Given the description of an element on the screen output the (x, y) to click on. 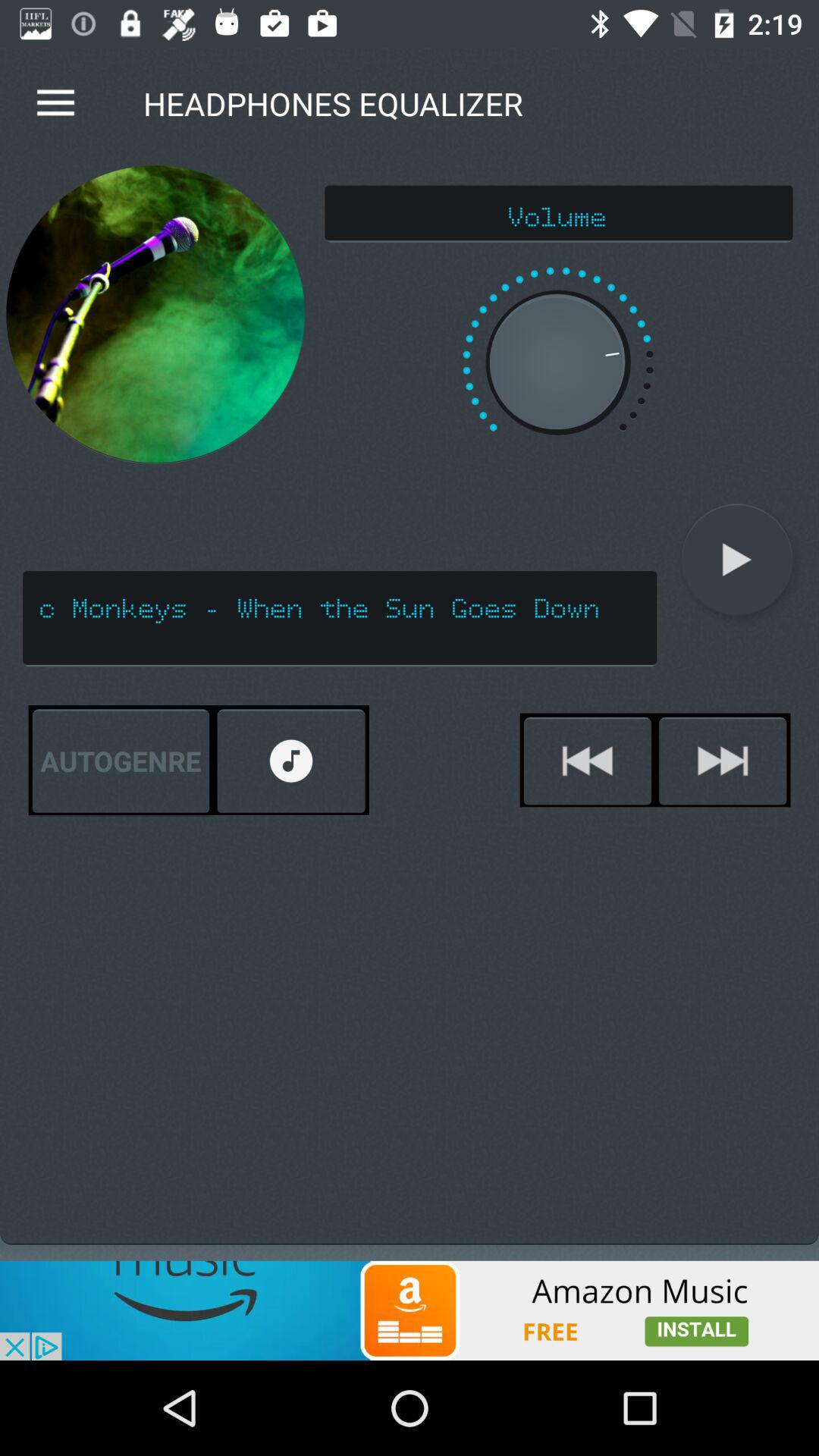
choose item below arctic monkeys when icon (120, 760)
